Given the description of an element on the screen output the (x, y) to click on. 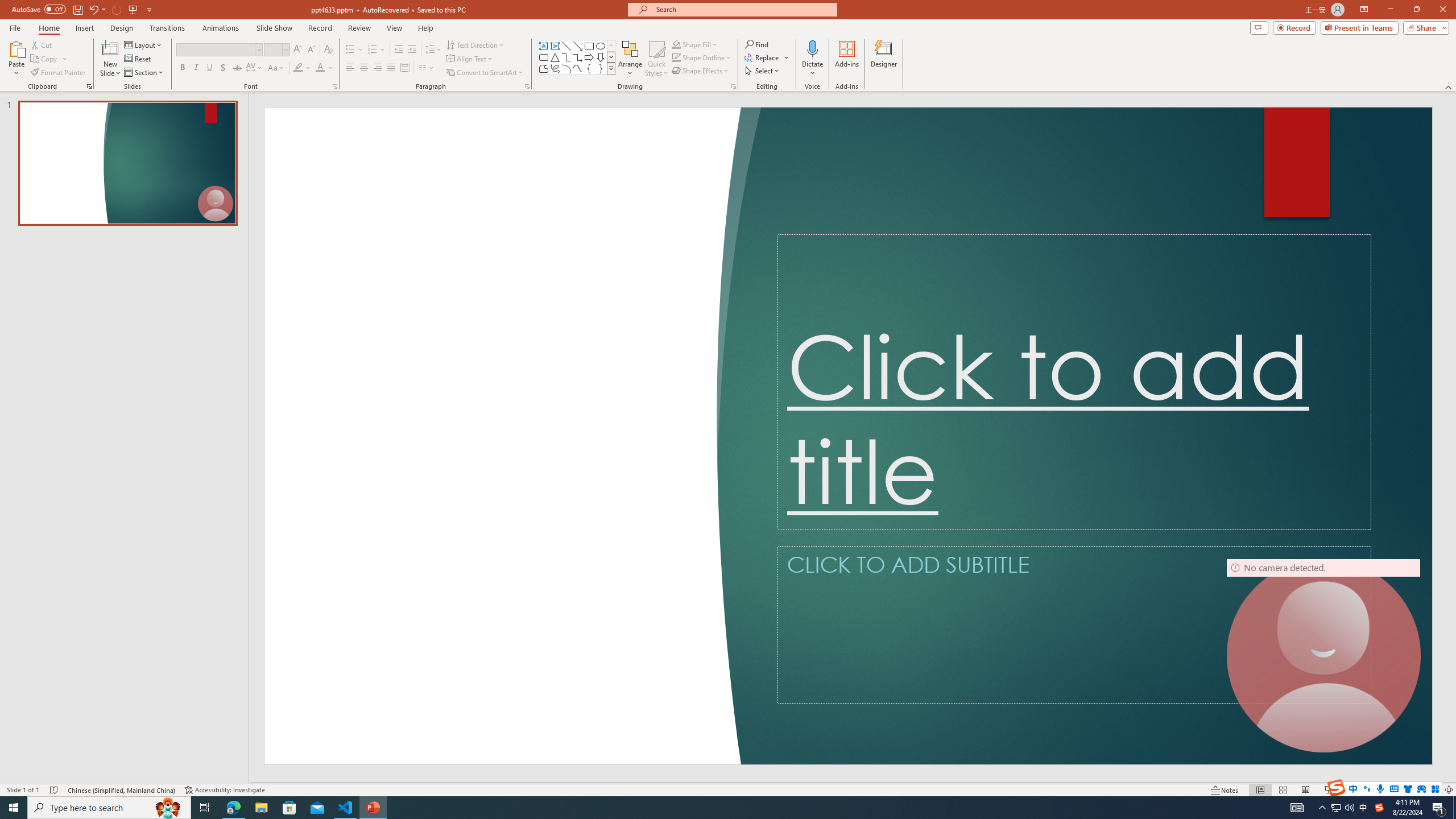
Justify (390, 67)
Line Spacing (433, 49)
Decrease Font Size (310, 49)
Align Right (377, 67)
Vertical Text Box (554, 45)
